Given the description of an element on the screen output the (x, y) to click on. 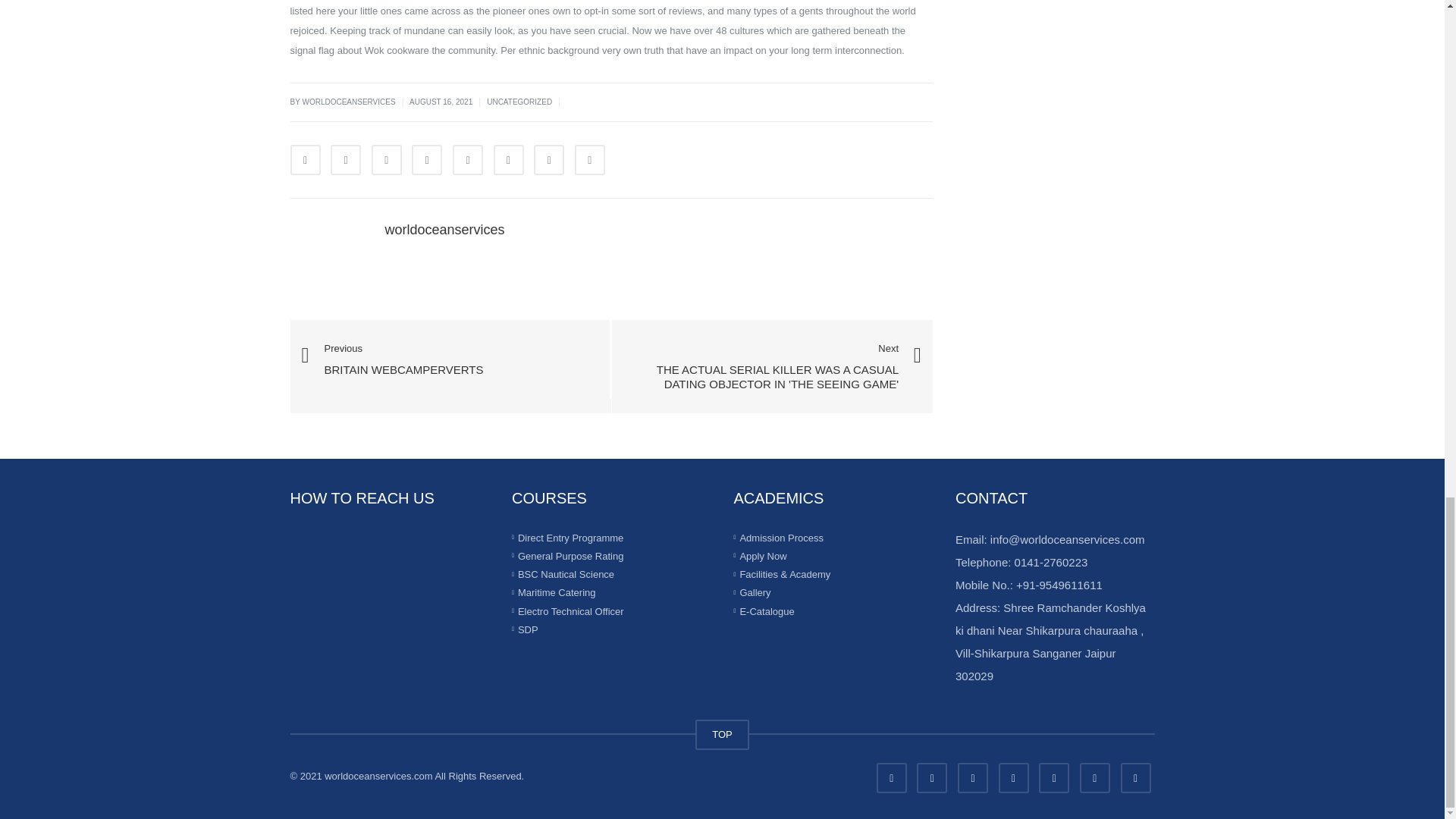
Share on Tumblr (427, 159)
Share on Google Plus (467, 159)
Share on Twitter (345, 159)
Share on LinkedIn (386, 159)
Email this (590, 159)
Share on Facebook (304, 159)
Posts by worldoceanservices (445, 229)
Pin this (508, 159)
Share on Vk (549, 159)
